Given the description of an element on the screen output the (x, y) to click on. 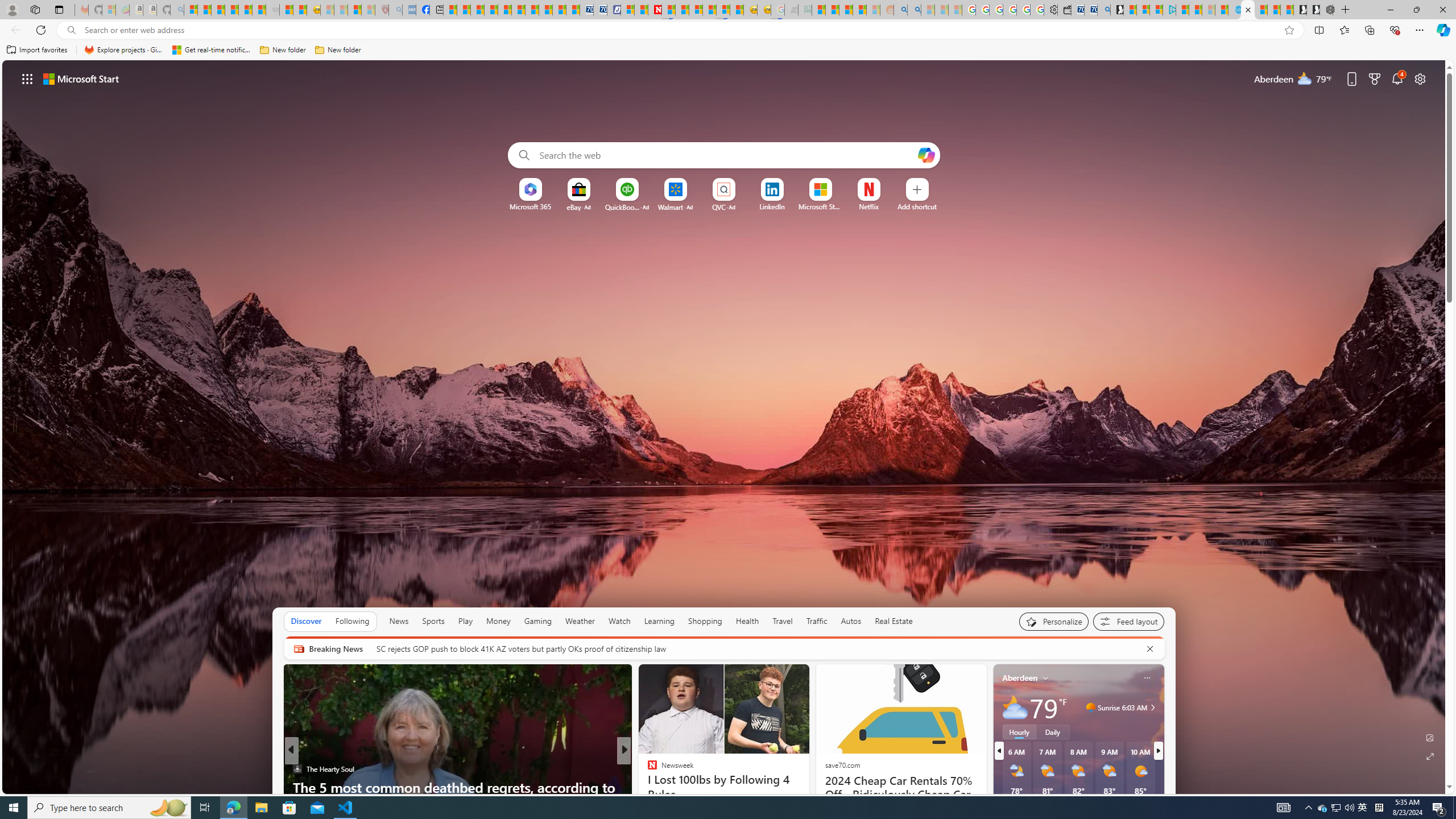
Wallet (1063, 9)
Climate Damage Becomes Too Severe To Reverse (490, 9)
INSIDER (647, 768)
